Given the description of an element on the screen output the (x, y) to click on. 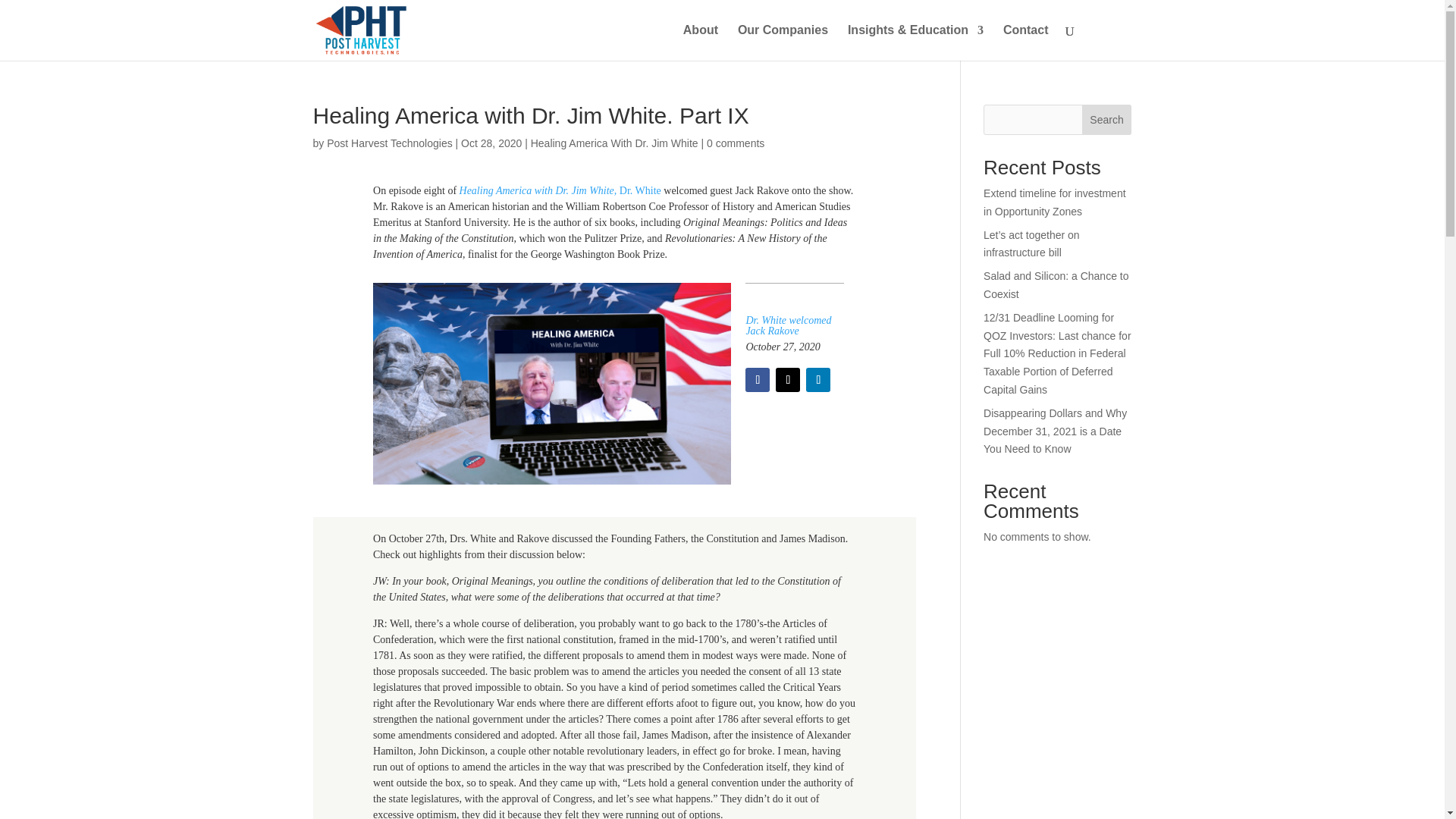
Post Harvest Technologies (389, 143)
Follow on X (787, 379)
Dr. White welcomed Jack Rakove (788, 325)
Healing America with Dr. Jim White. Part IX (551, 383)
Follow on LinkedIn (817, 379)
0 comments (735, 143)
About (699, 42)
Posts by Post Harvest Technologies (389, 143)
Healing America With Dr. Jim White (614, 143)
Healing America with Dr. Jim White, Dr. White (560, 190)
